Given the description of an element on the screen output the (x, y) to click on. 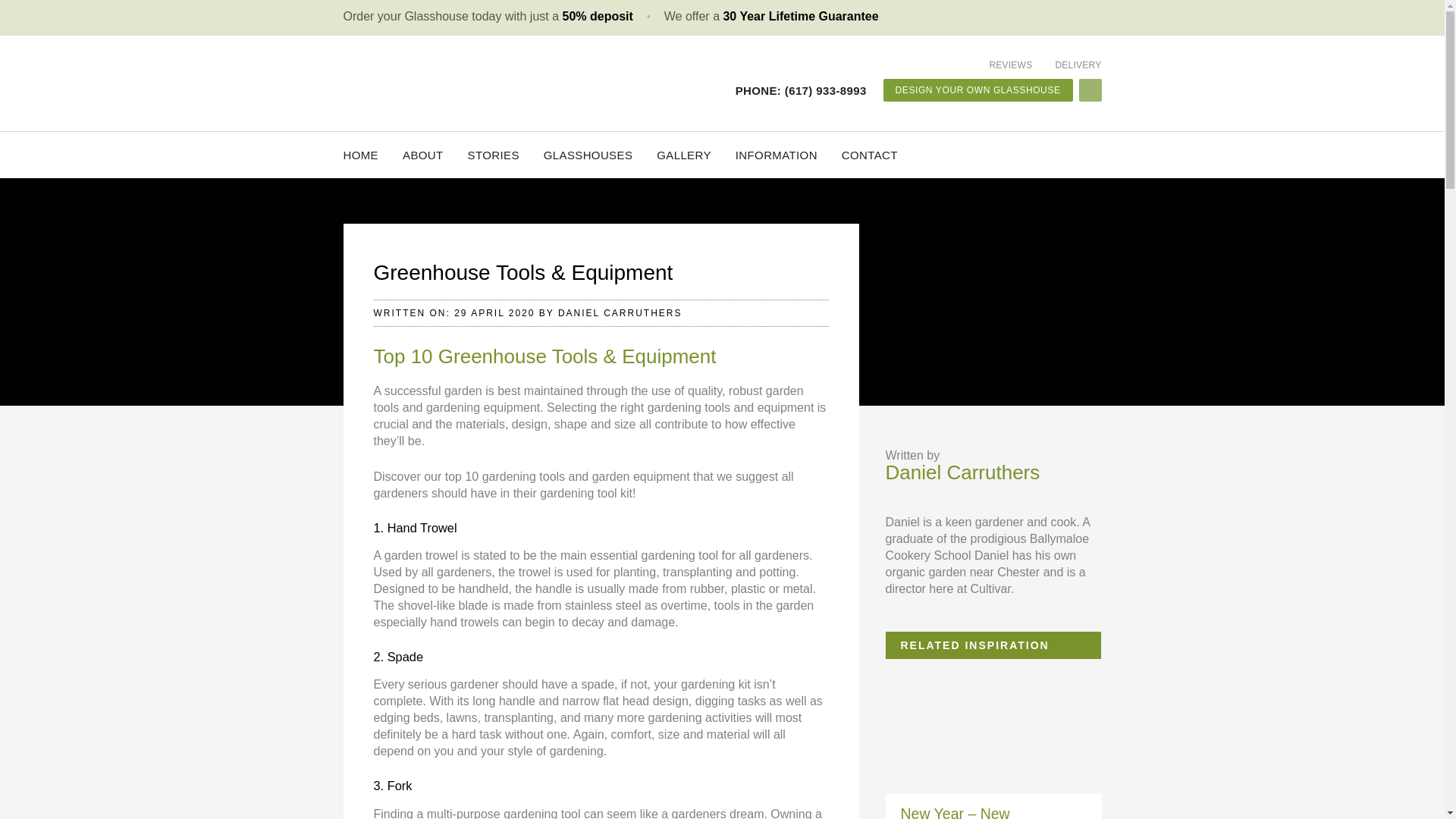
STORIES (493, 154)
REVIEWS (1010, 64)
DELIVERY (1077, 64)
DESIGN YOUR OWN GLASSHOUSE (978, 89)
INFORMATION (775, 154)
30 Year Lifetime Guarantee (799, 15)
CONTACT (869, 154)
GALLERY (683, 154)
GLASSHOUSES (588, 154)
